Given the description of an element on the screen output the (x, y) to click on. 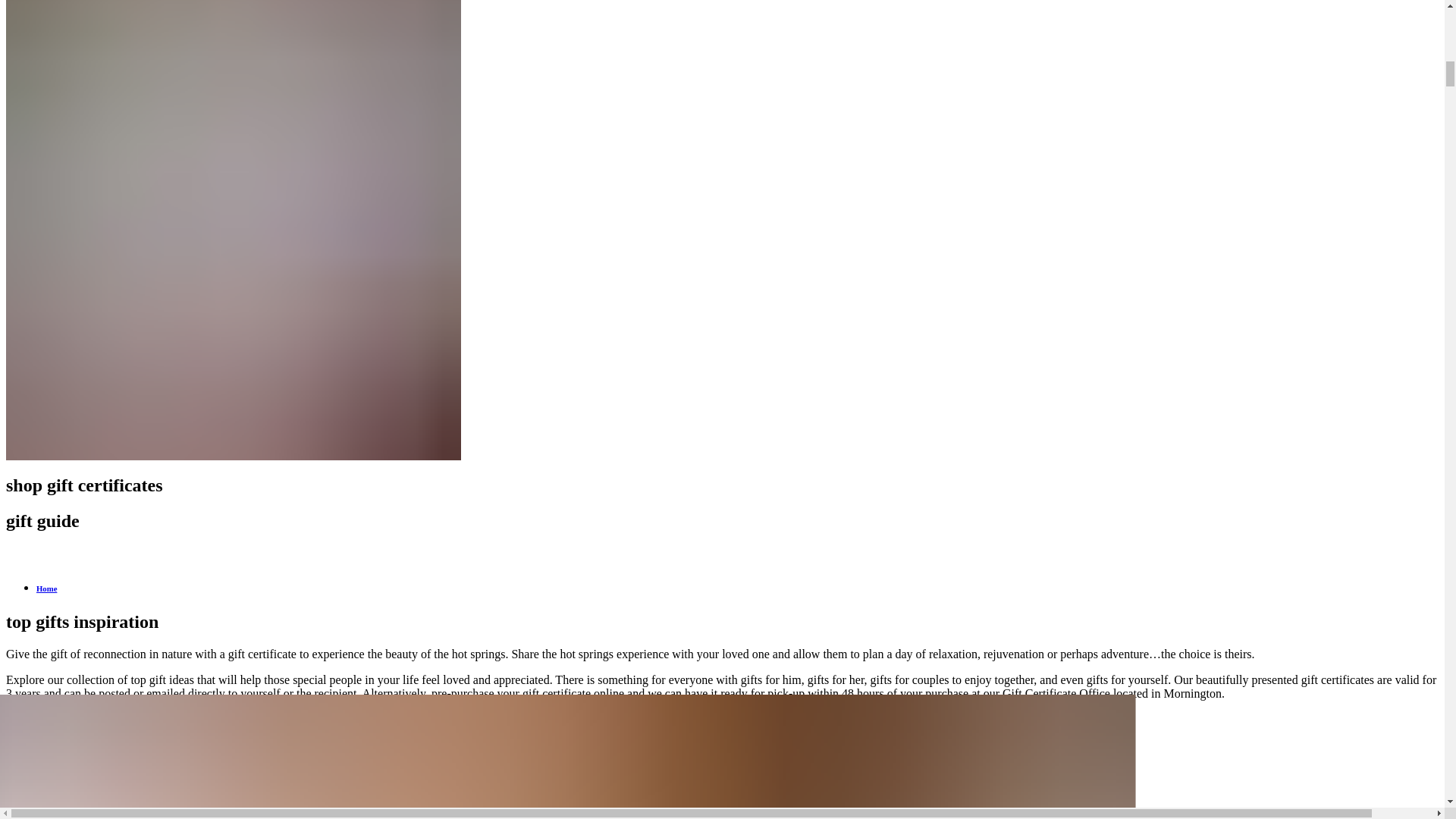
Buy gifts from the Peninsula Hot Springs shop (125, 718)
